Given the description of an element on the screen output the (x, y) to click on. 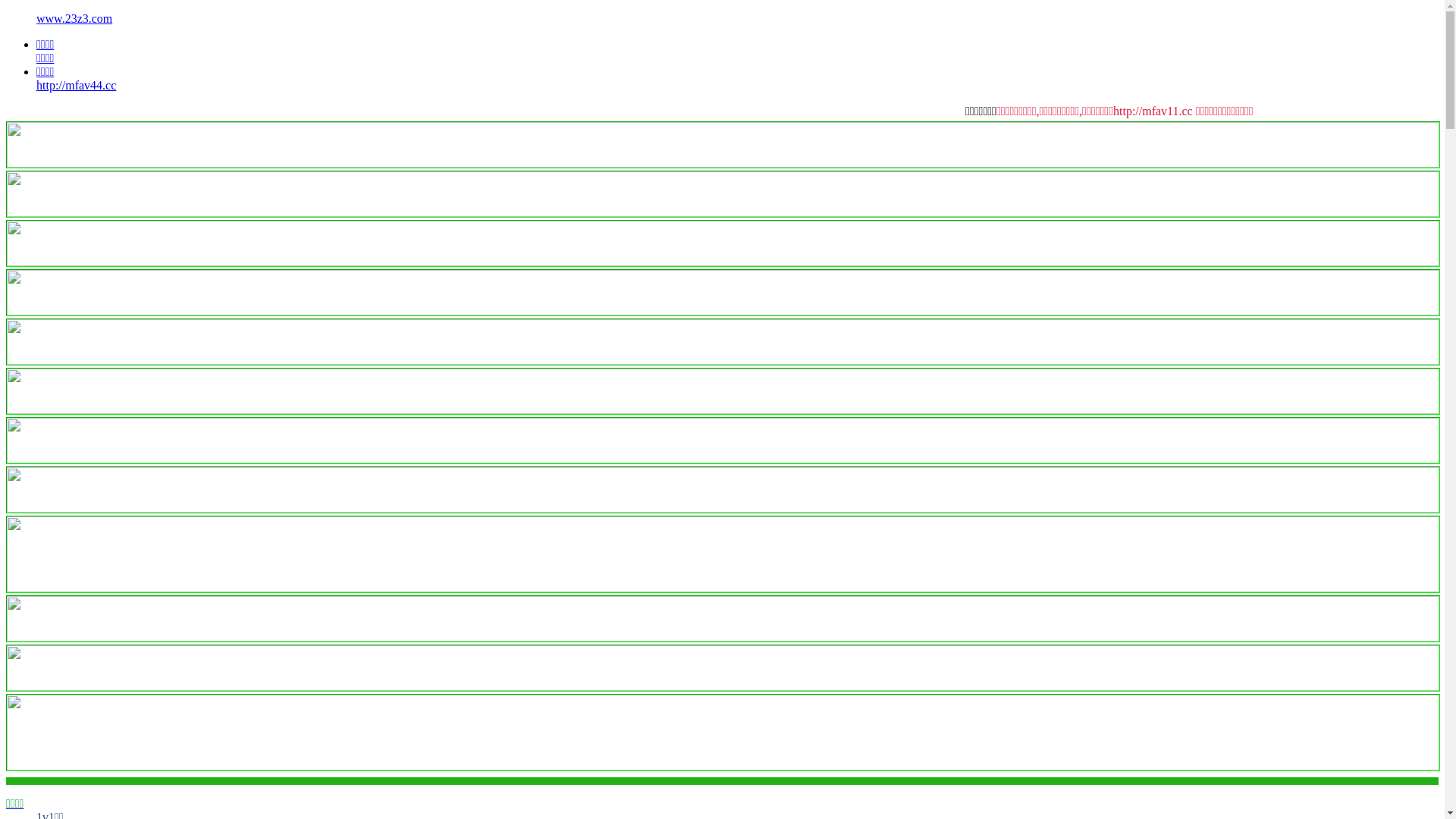
www.23z3.com Element type: text (74, 18)
http://mfav44.cc Element type: text (76, 84)
